Given the description of an element on the screen output the (x, y) to click on. 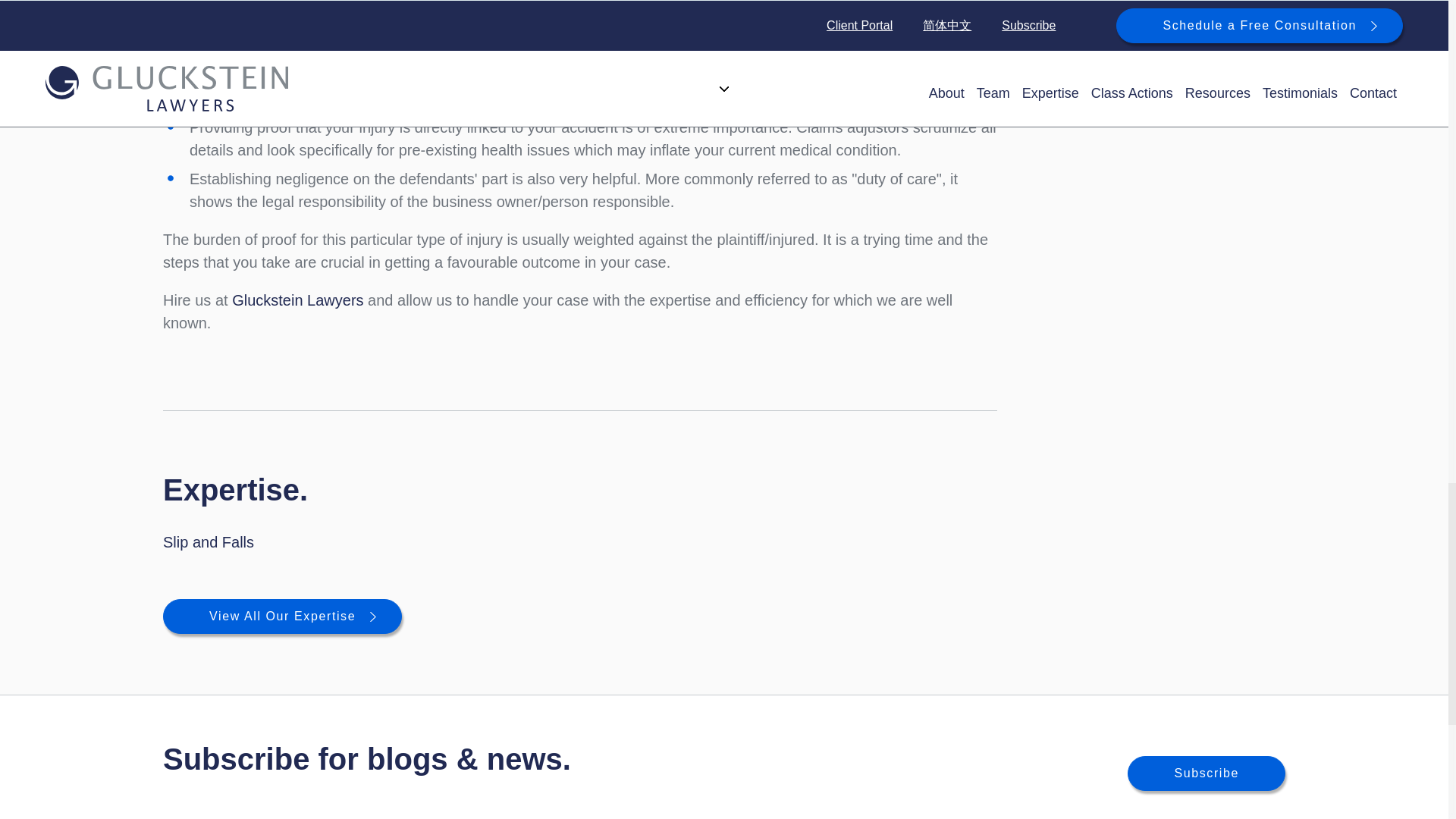
Slip and Falls (208, 541)
